Given the description of an element on the screen output the (x, y) to click on. 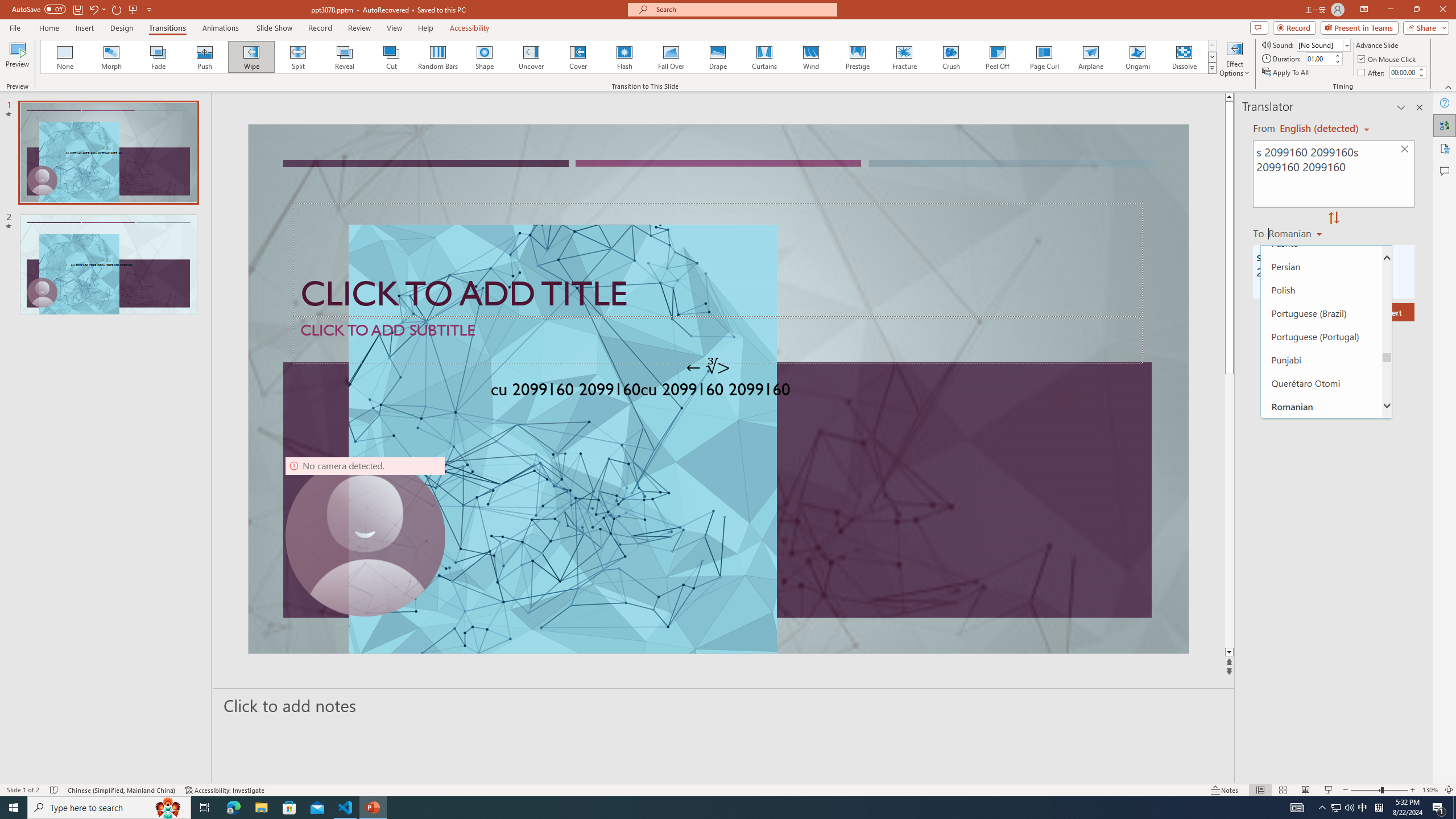
Go Back (Alt+LeftArrow) (600, 150)
Explorer Section: wangyian (188, 209)
Explorer (Ctrl+Shift+E) (76, 221)
wangyian_dsw - DSW (23, 183)
Reload (609, 508)
Close Dialog (644, 387)
